Given the description of an element on the screen output the (x, y) to click on. 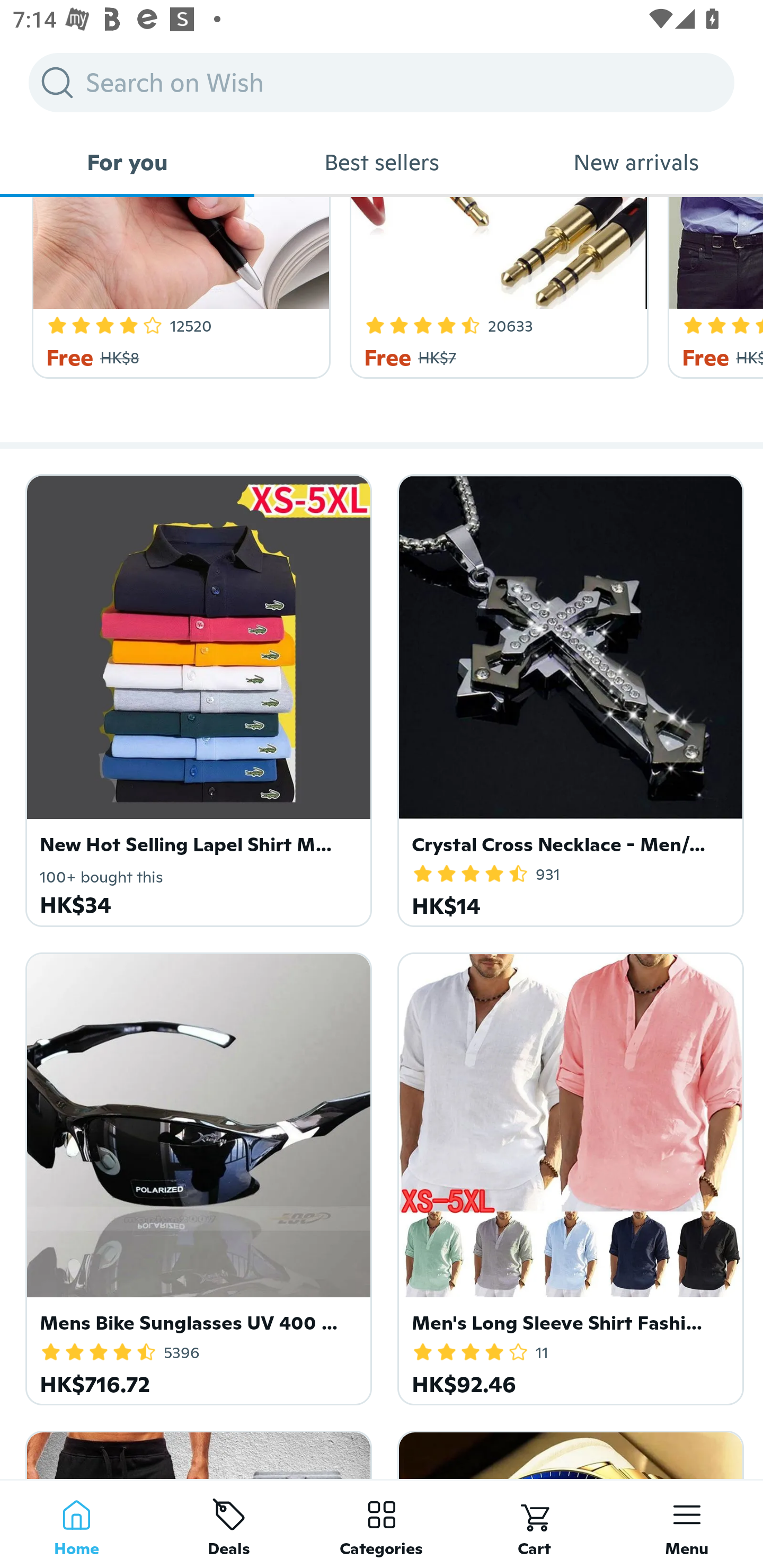
Search on Wish (381, 82)
For you (127, 161)
Best sellers (381, 161)
New arrivals (635, 161)
3.9 Star Rating 12520 Free HK$8 (177, 288)
4.3 Star Rating 20633 Free HK$7 (495, 288)
Home (76, 1523)
Deals (228, 1523)
Categories (381, 1523)
Cart (533, 1523)
Menu (686, 1523)
